Given the description of an element on the screen output the (x, y) to click on. 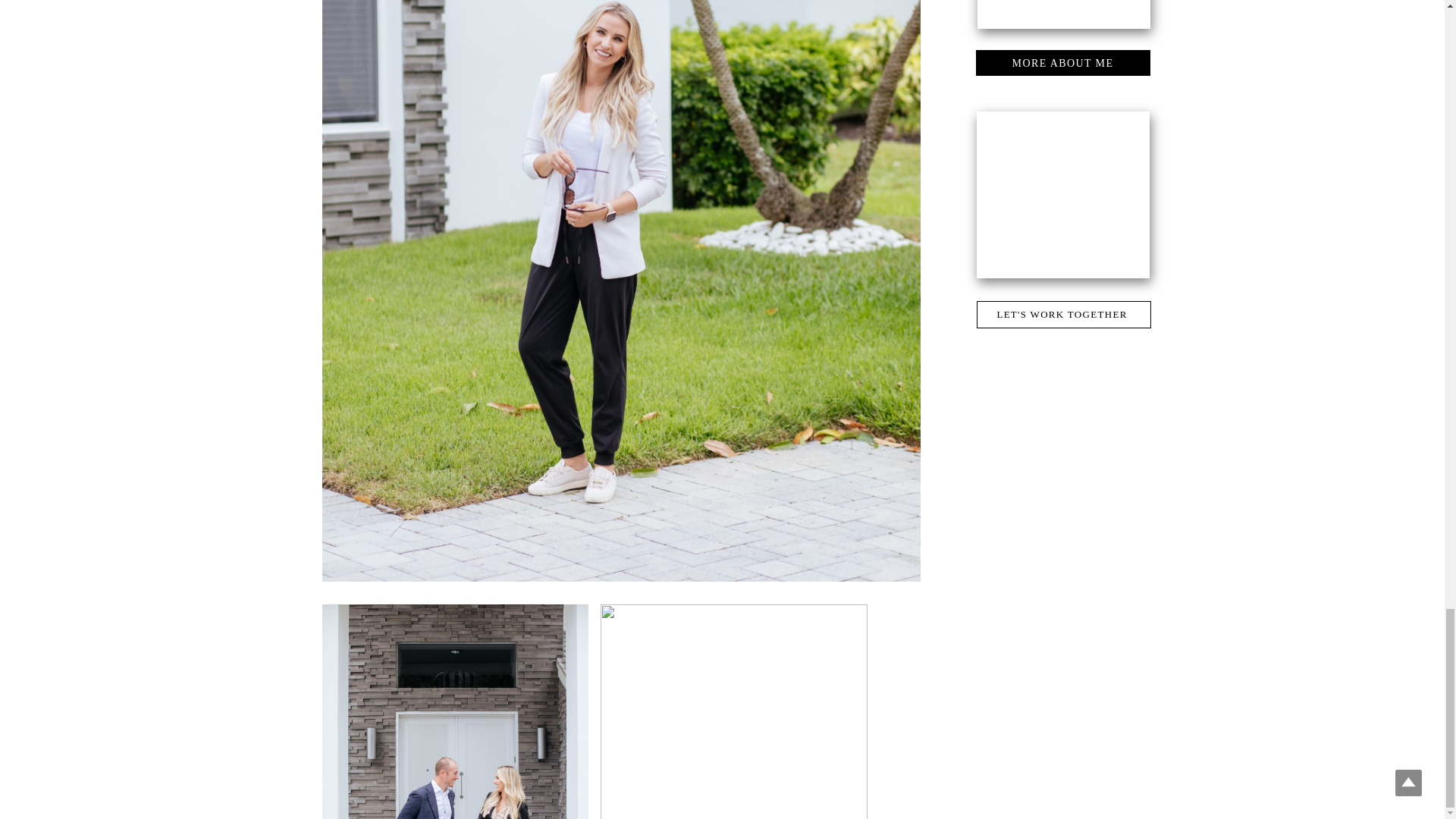
LET'S WORK TOGETHER (1061, 317)
MORE ABOUT ME (1061, 65)
